Given the description of an element on the screen output the (x, y) to click on. 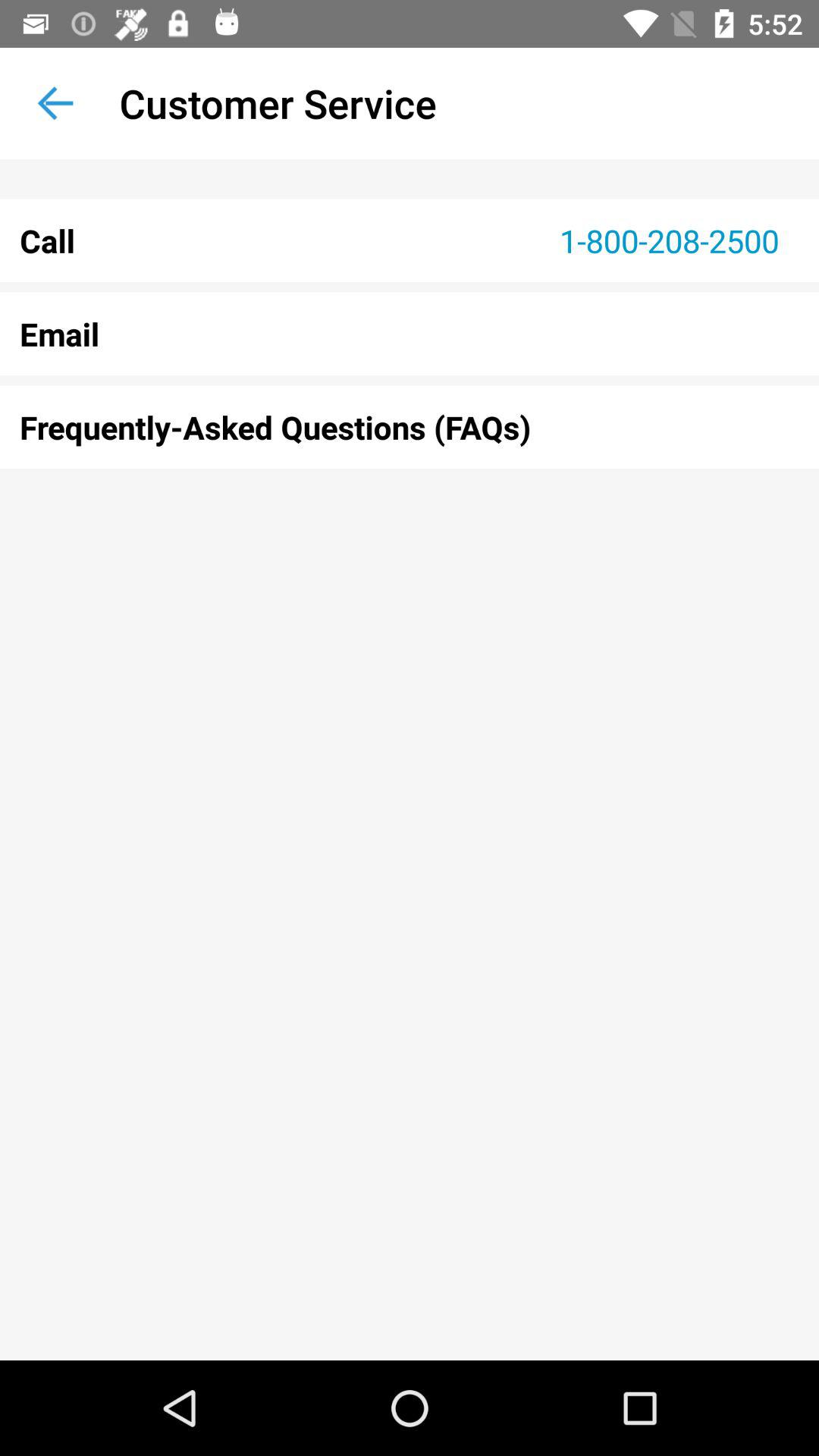
click the item below the call (409, 333)
